Given the description of an element on the screen output the (x, y) to click on. 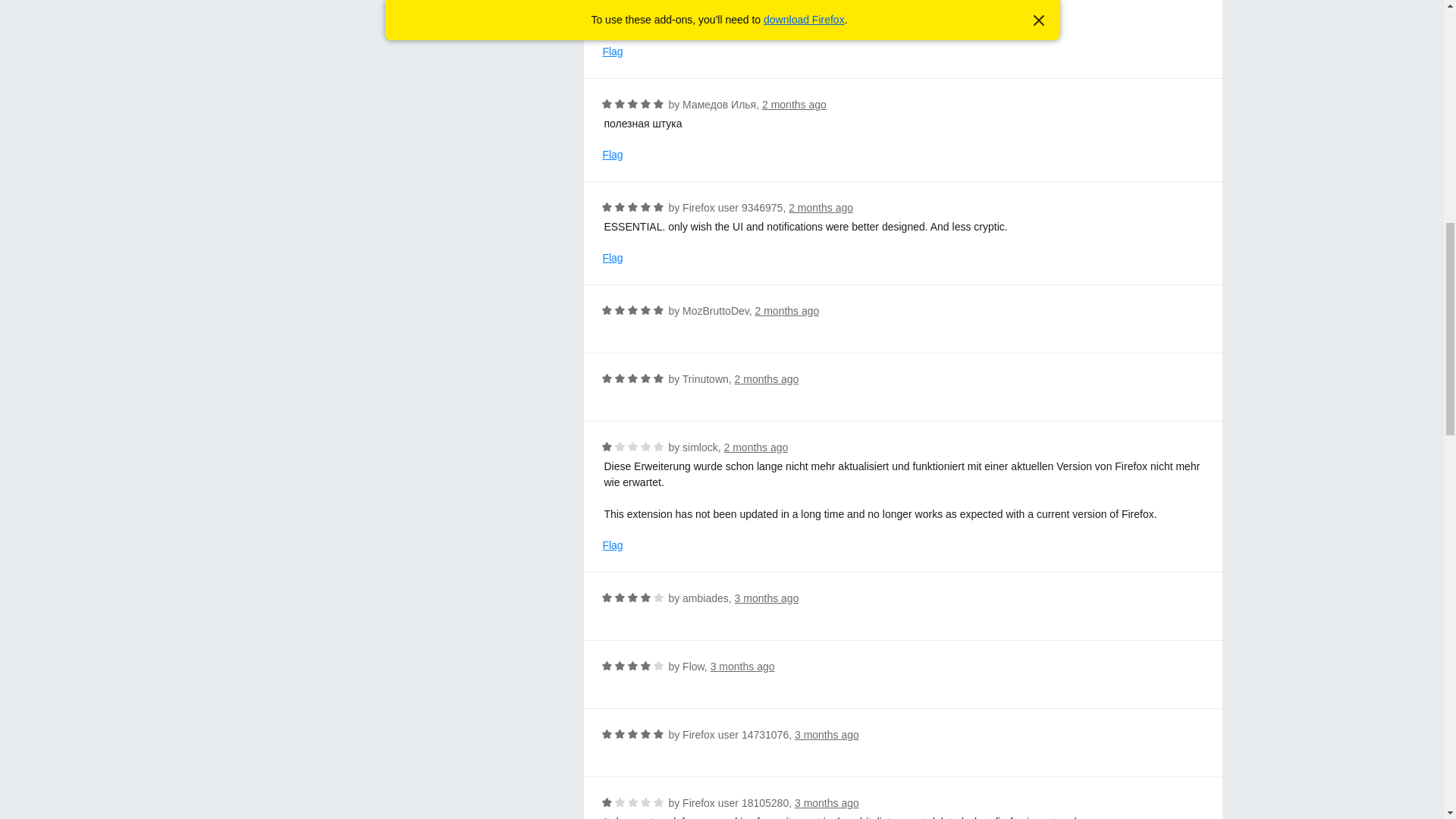
2 months ago (767, 378)
2 months ago (794, 104)
2 months ago (756, 447)
2 months ago (826, 3)
Flag (612, 154)
3 months ago (767, 598)
3 months ago (742, 666)
Flag (612, 51)
3 months ago (826, 734)
Flag (612, 258)
2 months ago (821, 207)
2 months ago (787, 310)
Flag (612, 545)
